Given the description of an element on the screen output the (x, y) to click on. 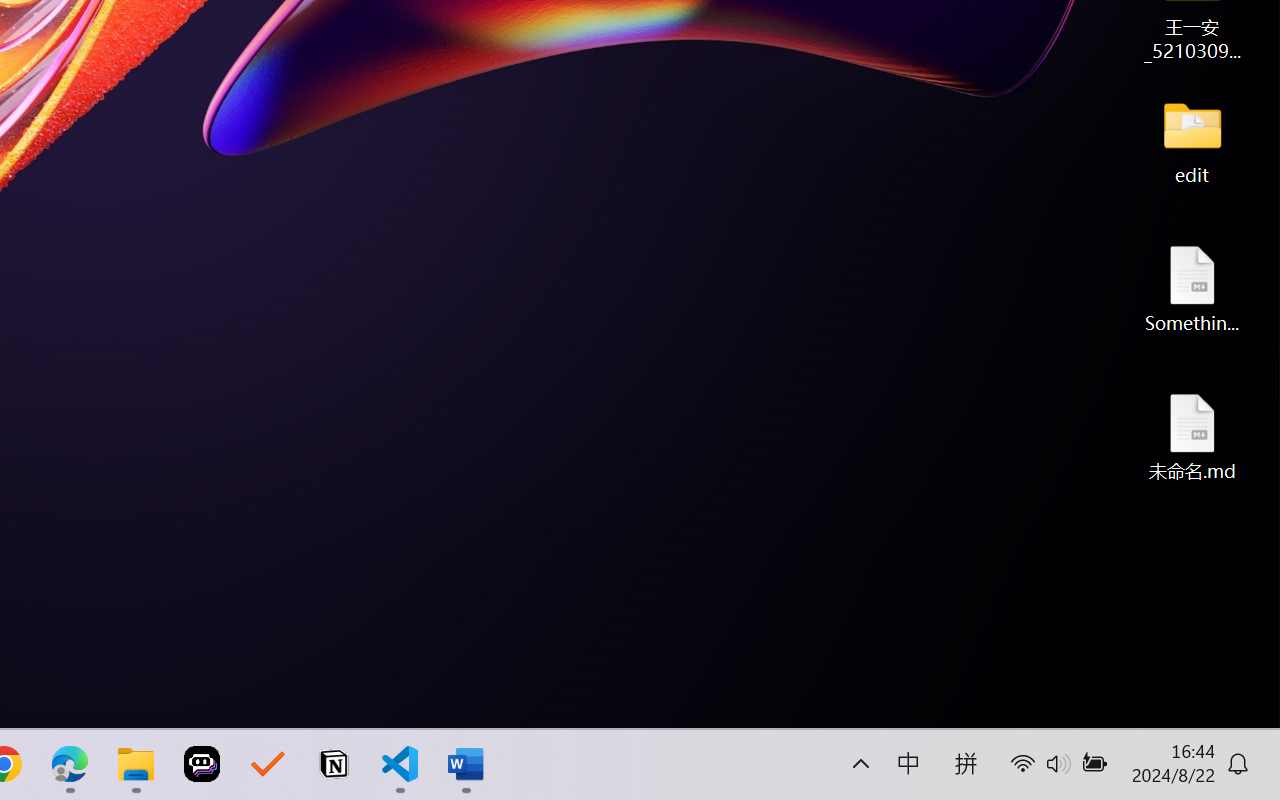
edit (1192, 140)
